Given the description of an element on the screen output the (x, y) to click on. 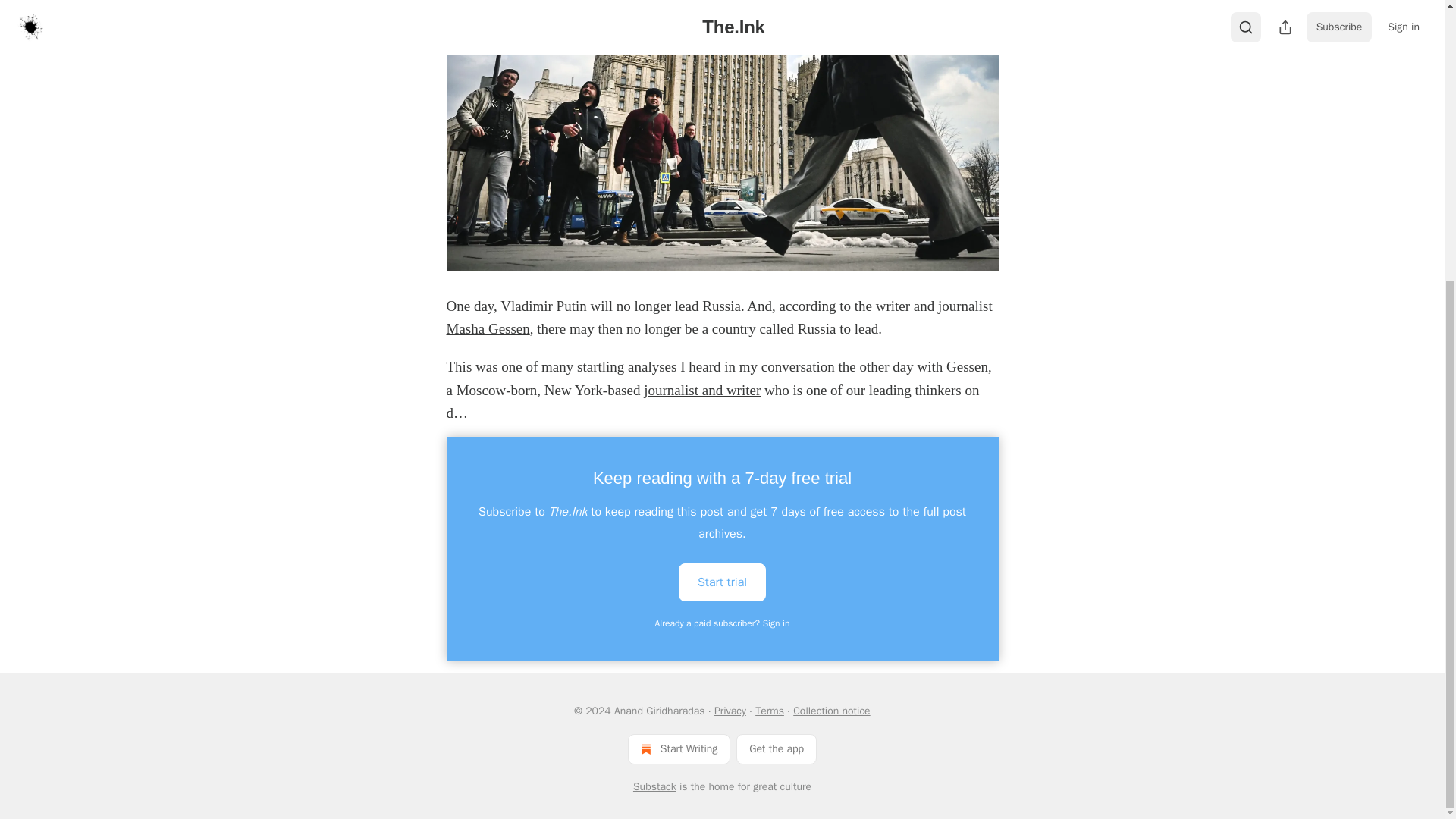
Already a paid subscriber? Sign in (722, 623)
Substack (655, 786)
Start trial (721, 581)
Start trial (721, 582)
Terms (769, 710)
Get the app (776, 748)
journalist and writer (701, 390)
Start Writing (678, 748)
Collection notice (831, 710)
Masha Gessen (487, 328)
Privacy (729, 710)
